Given the description of an element on the screen output the (x, y) to click on. 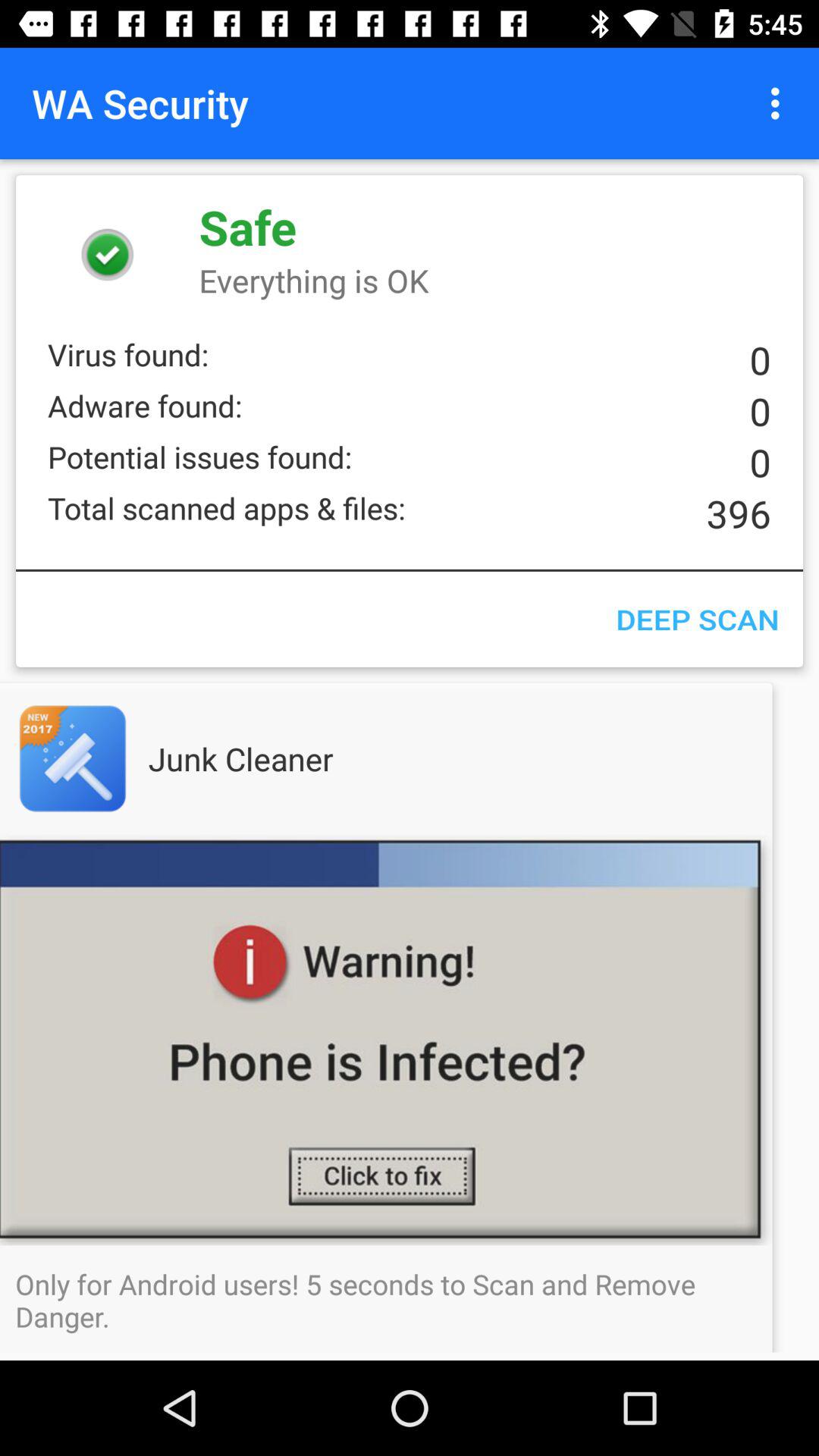
flip to the deep scan (697, 619)
